Given the description of an element on the screen output the (x, y) to click on. 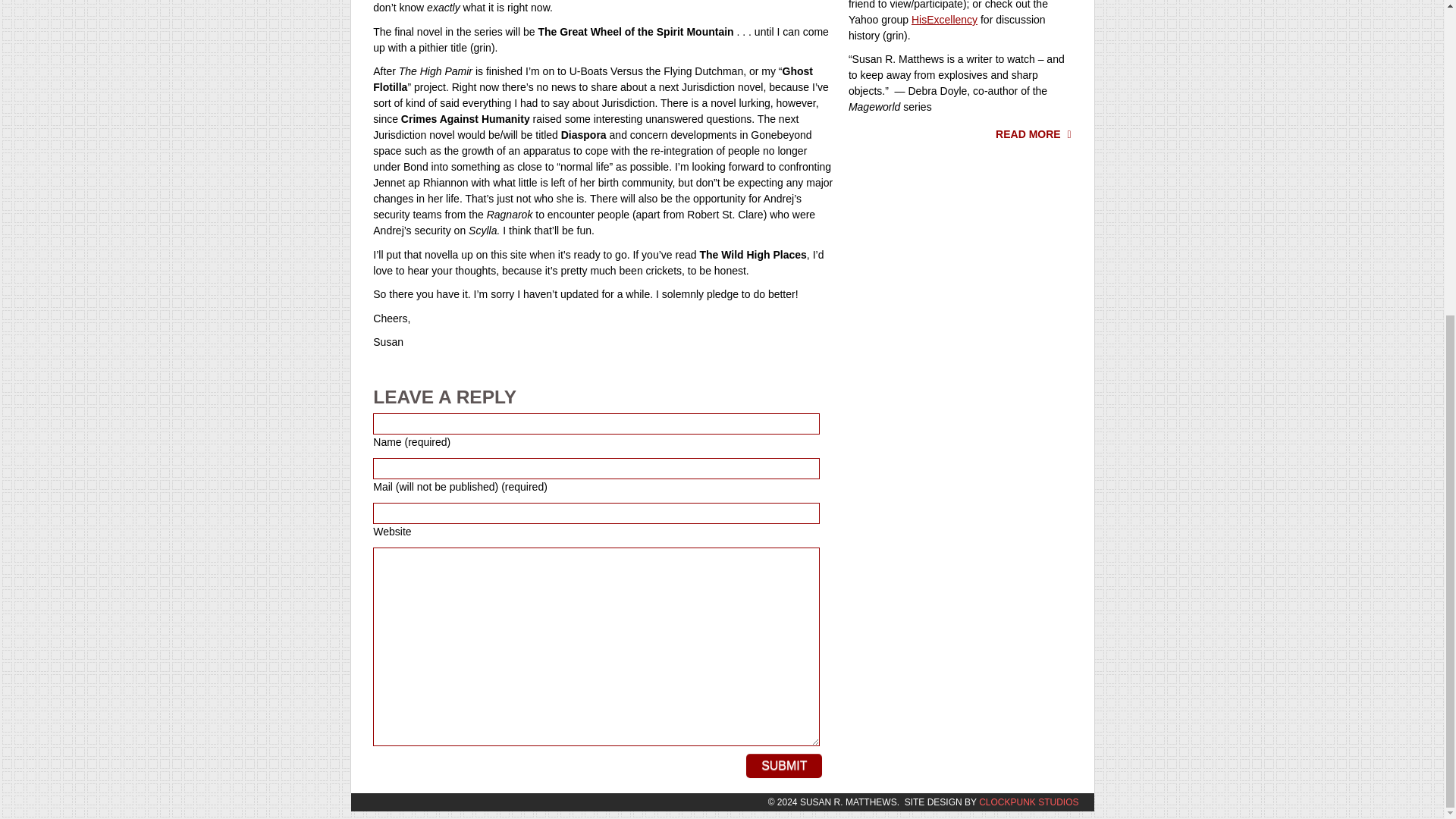
Submit (783, 765)
HisExcellency (943, 19)
CLOCKPUNK STUDIOS (1028, 801)
READ MORE (1033, 133)
Submit (783, 765)
